Given the description of an element on the screen output the (x, y) to click on. 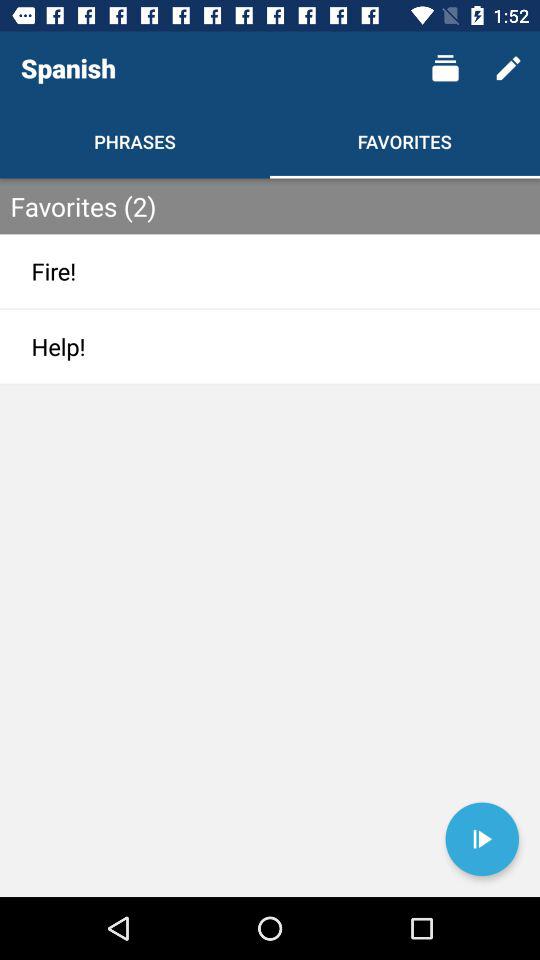
launch the item to the right of spanish icon (444, 67)
